Given the description of an element on the screen output the (x, y) to click on. 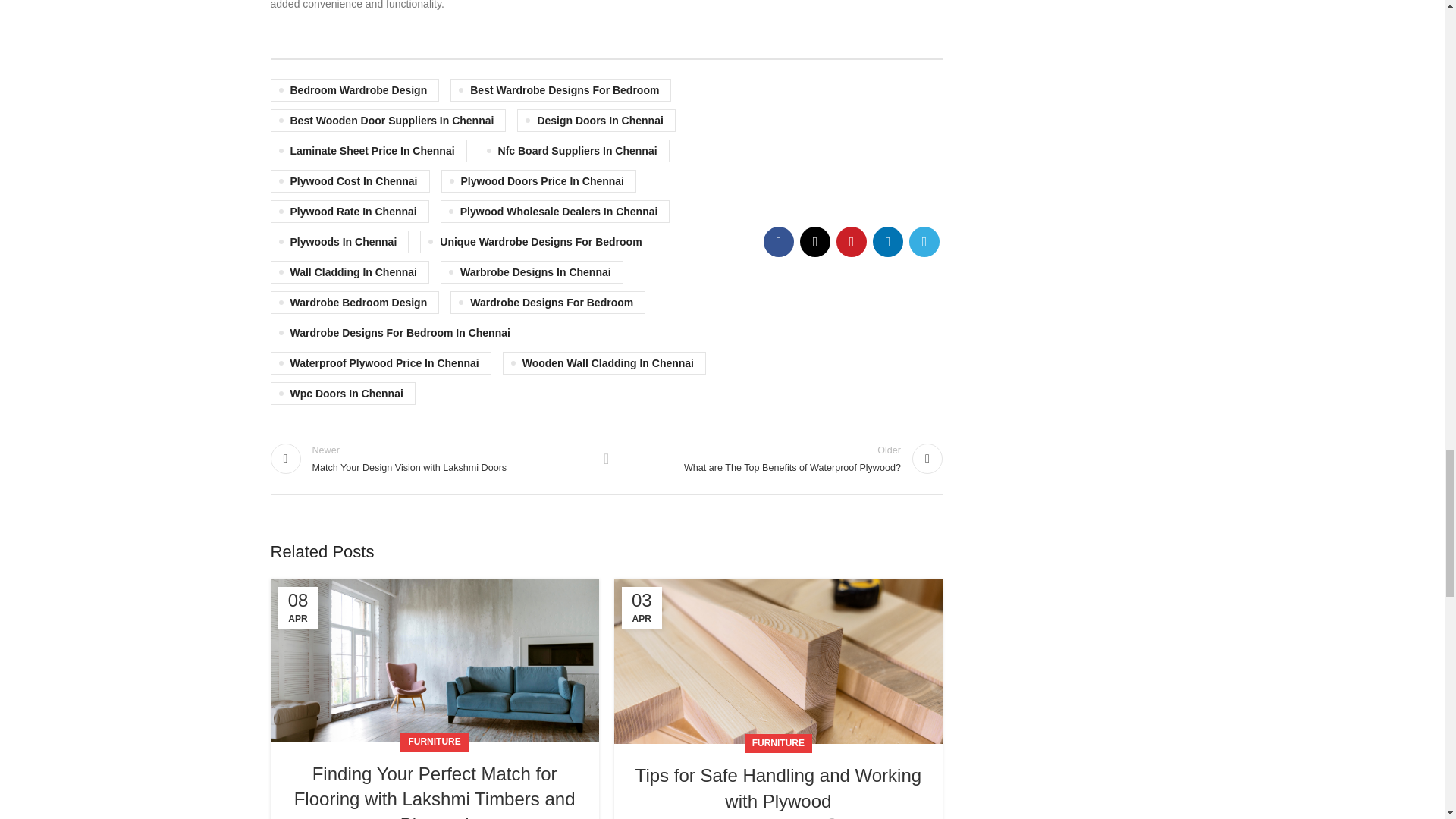
Bedroom Wardrobe Design (354, 89)
Waterproof Plywood Price In Chennai (379, 363)
Plywood Cost In Chennai (349, 180)
Wardrobe Bedroom Design (354, 302)
Unique Wardrobe Designs For Bedroom (536, 241)
Plywood Doors Price In Chennai (538, 180)
Wall Cladding In Chennai (348, 272)
Best Wardrobe Designs For Bedroom (560, 89)
Design Doors In Chennai (595, 119)
Wooden Wall Cladding In Chennai (604, 363)
Wardrobe Designs For Bedroom (547, 302)
Best Wooden Door Suppliers In Chennai (387, 119)
Nfc Board Suppliers In Chennai (574, 150)
Warbrobe Designs In Chennai (532, 272)
Plywoods In Chennai (339, 241)
